Given the description of an element on the screen output the (x, y) to click on. 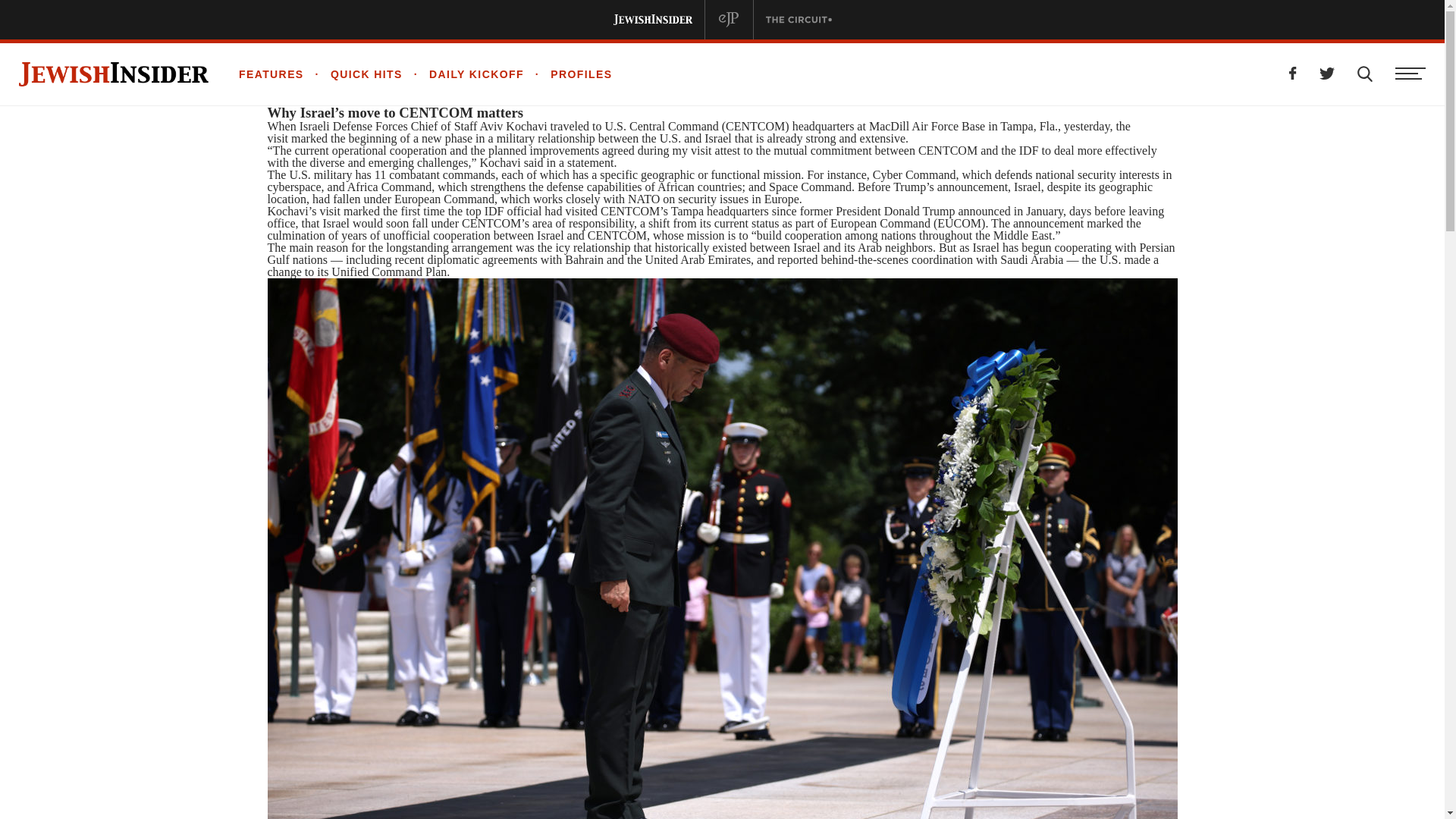
FEATURES (271, 73)
statement (589, 162)
PROFILES (568, 73)
11 combatant commands (434, 174)
QUICK HITS (353, 73)
DAILY KICKOFF (463, 73)
